Given the description of an element on the screen output the (x, y) to click on. 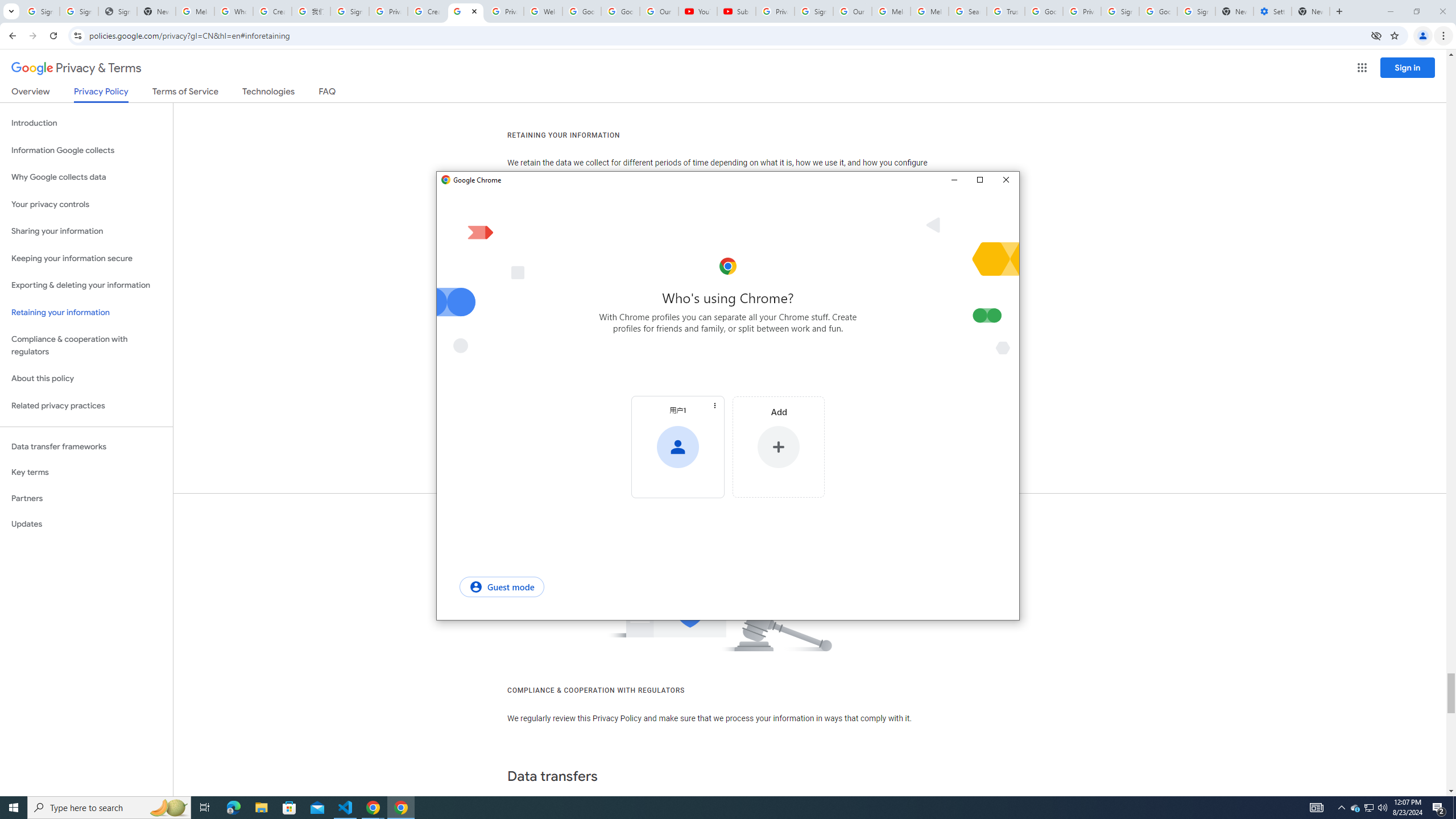
Welcome to My Activity (1368, 807)
Google Chrome - 1 running window (542, 11)
Guest mode (400, 807)
Google Account (502, 586)
Compliance & cooperation with regulators (620, 11)
Retaining your information (86, 345)
Notification Chevron (86, 312)
Who is my administrator? - Google Account Help (1341, 807)
AutomationID: 4105 (233, 11)
Q2790: 100% (1316, 807)
